Given the description of an element on the screen output the (x, y) to click on. 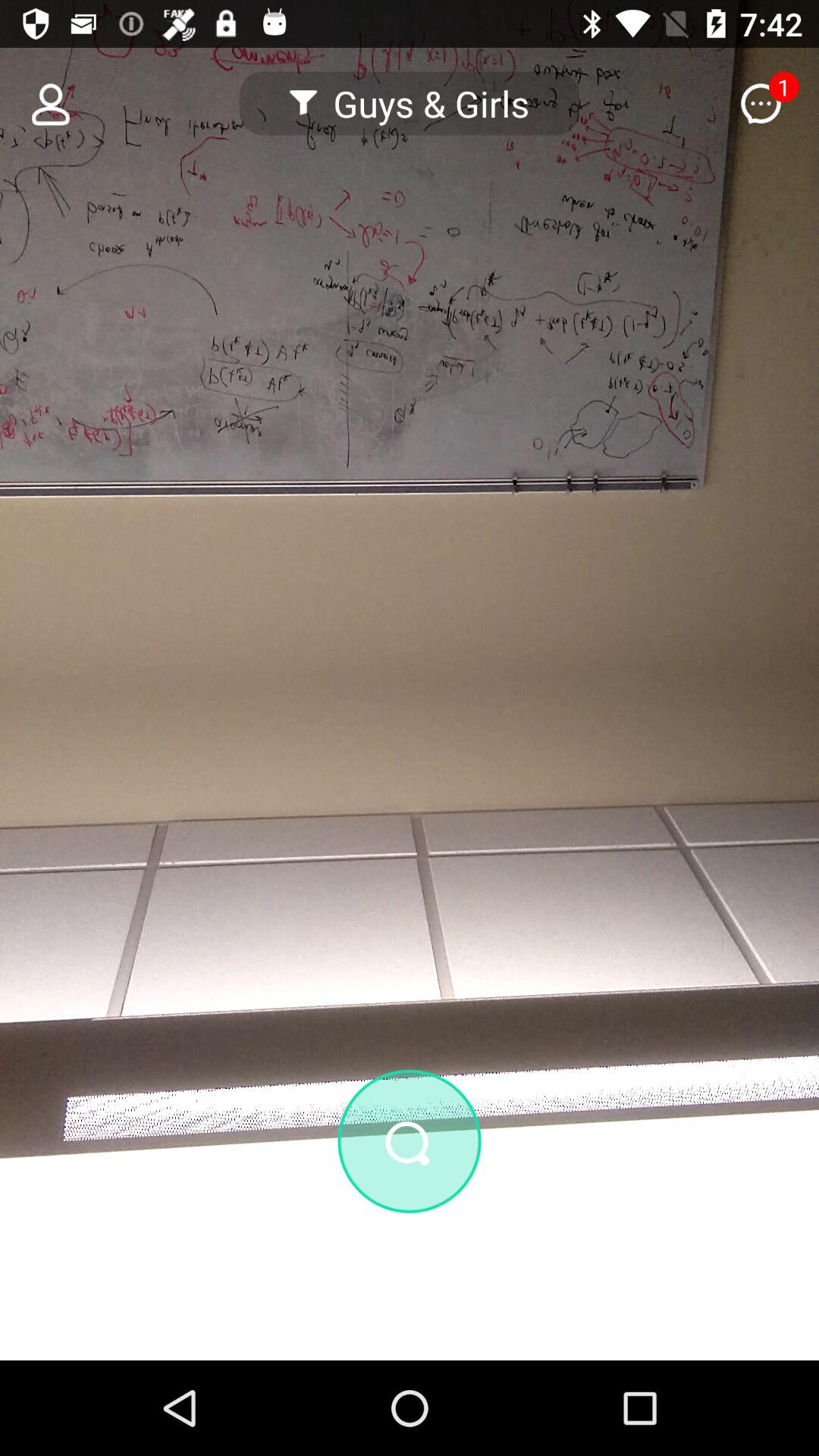
zoom in (409, 1141)
